Given the description of an element on the screen output the (x, y) to click on. 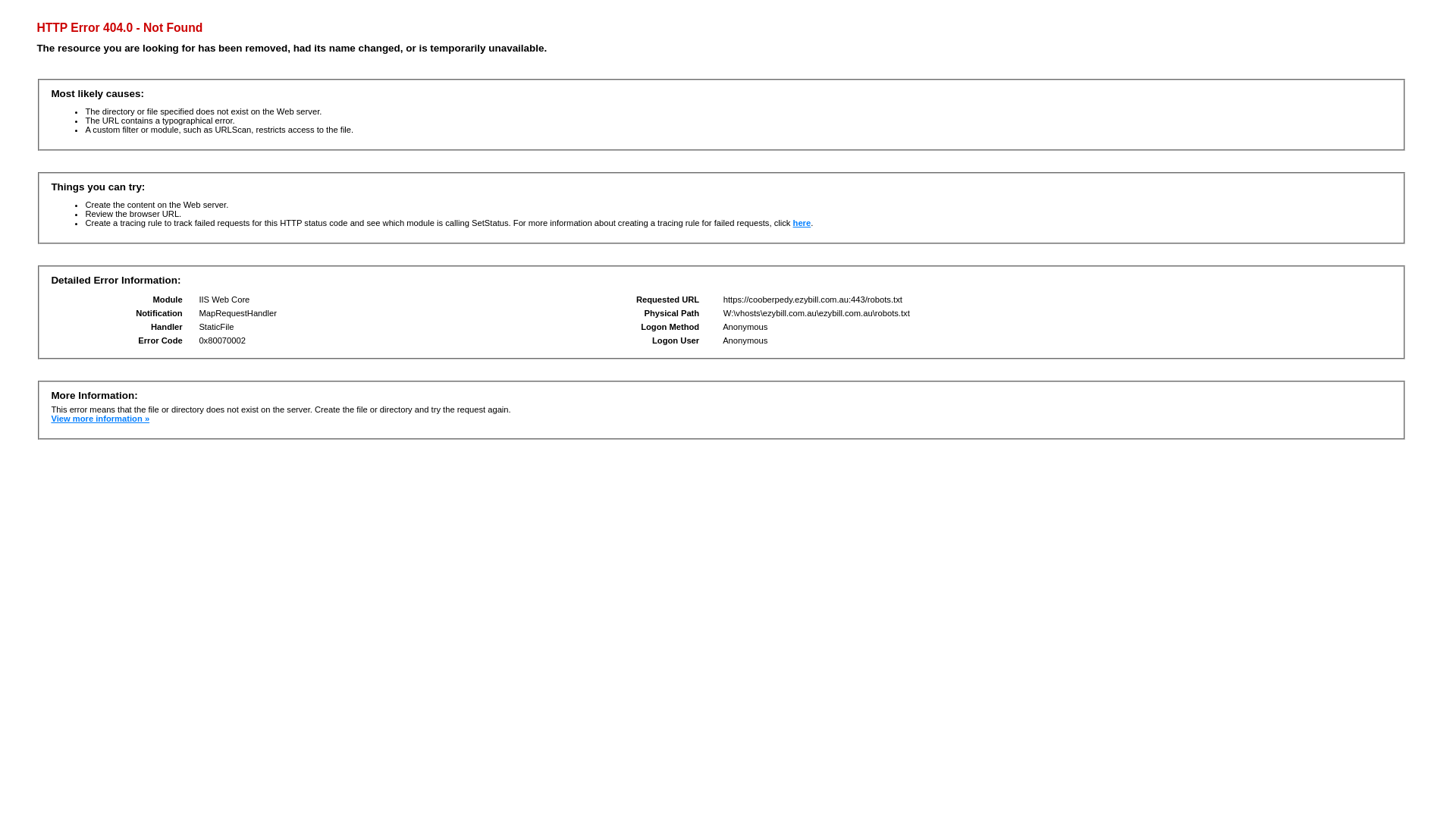
here Element type: text (802, 222)
